Given the description of an element on the screen output the (x, y) to click on. 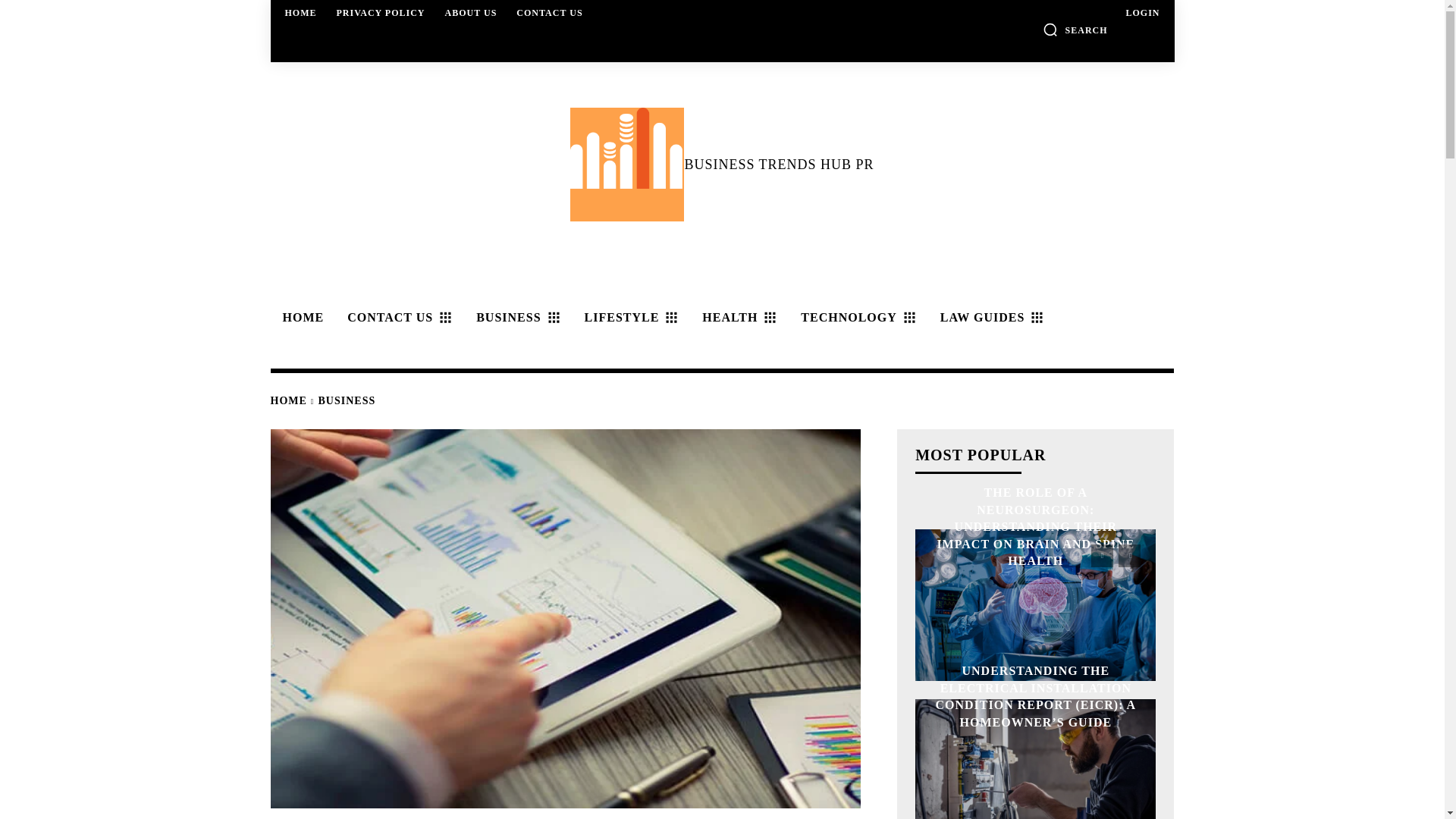
PRIVACY POLICY (380, 12)
LOGIN (1141, 12)
CONTACT US (548, 12)
HOME (300, 317)
BUSINESS TRENDS HUB PR (721, 164)
Business Trends Hub (627, 164)
ABOUT US (471, 12)
View all posts in Business (346, 400)
SEARCH (1075, 29)
HOME (301, 12)
